Given the description of an element on the screen output the (x, y) to click on. 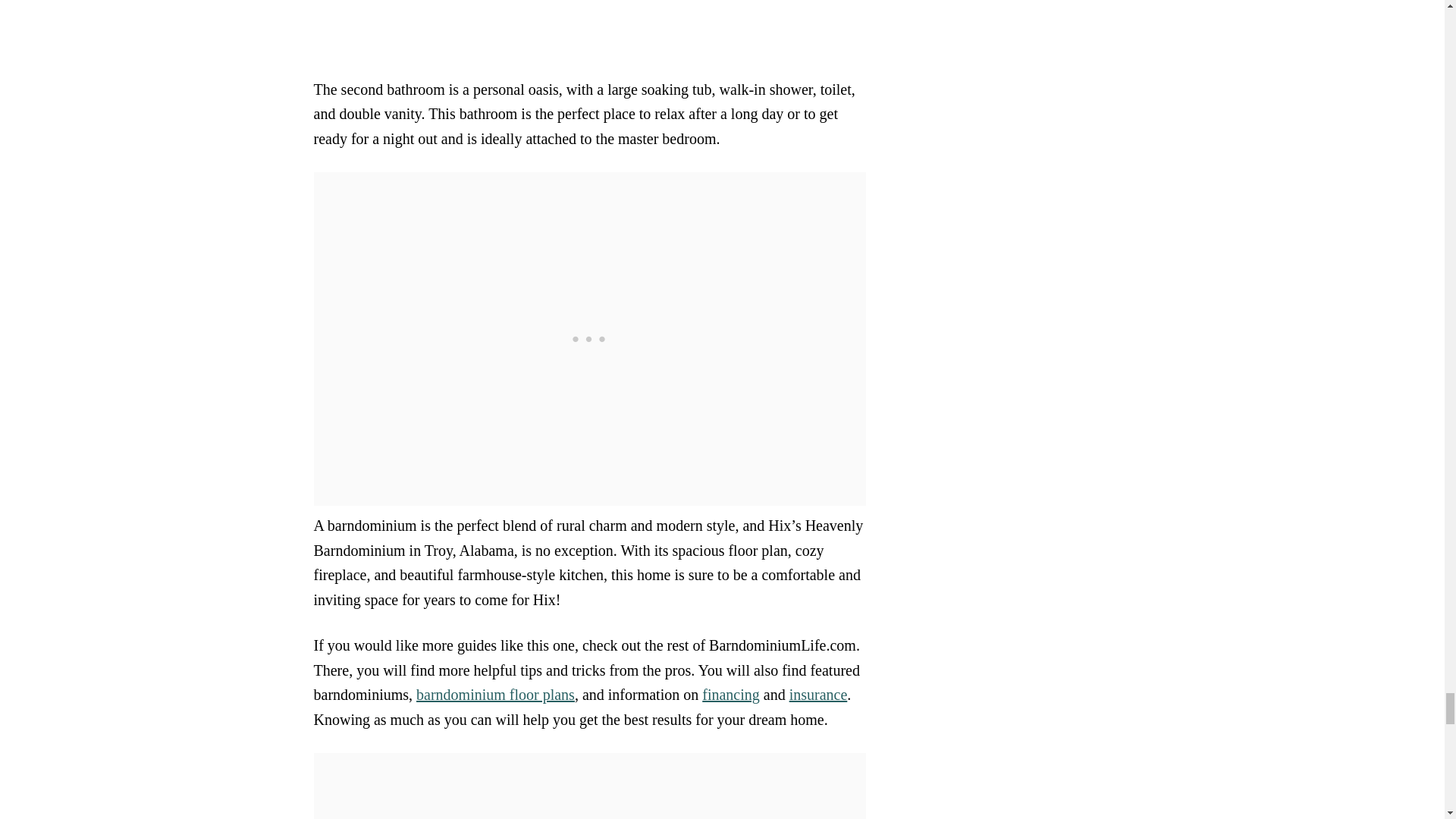
financing (730, 694)
barndominium floor plans (495, 694)
insurance (818, 694)
